Given the description of an element on the screen output the (x, y) to click on. 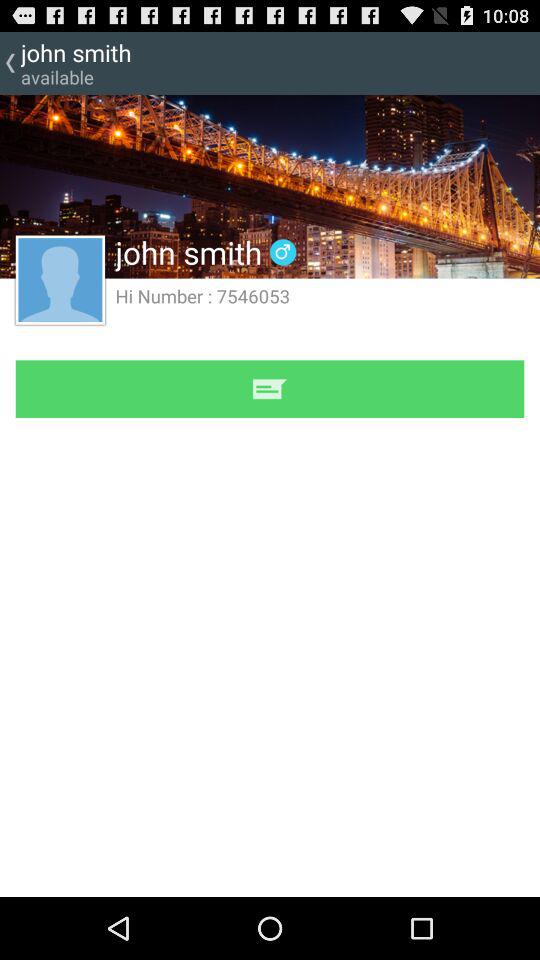
choose item next to the hi number : 7546053 item (60, 279)
